Given the description of an element on the screen output the (x, y) to click on. 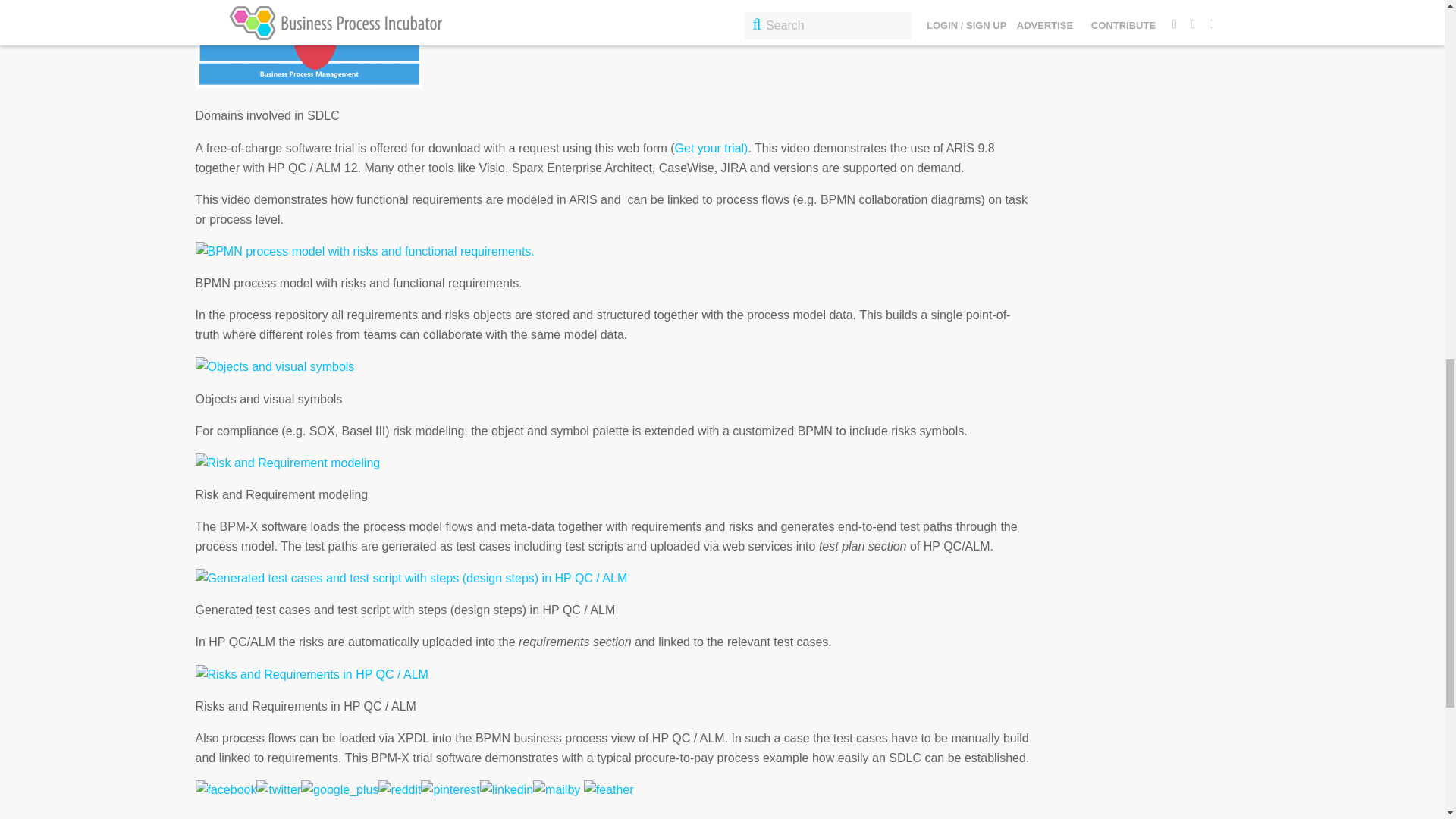
Share on Reddit (399, 790)
Share on Linkedin (506, 790)
Pin it with Pinterest (449, 789)
by (600, 789)
Share on Facebook (226, 789)
Share on Facebook (226, 790)
Get your trial (709, 147)
Share on Linkedin (506, 789)
Pin it with Pinterest (449, 790)
BPM-X shares on Twitter (278, 789)
Share on Reddit (399, 789)
BPM-X shares on Twitter (278, 790)
